Given the description of an element on the screen output the (x, y) to click on. 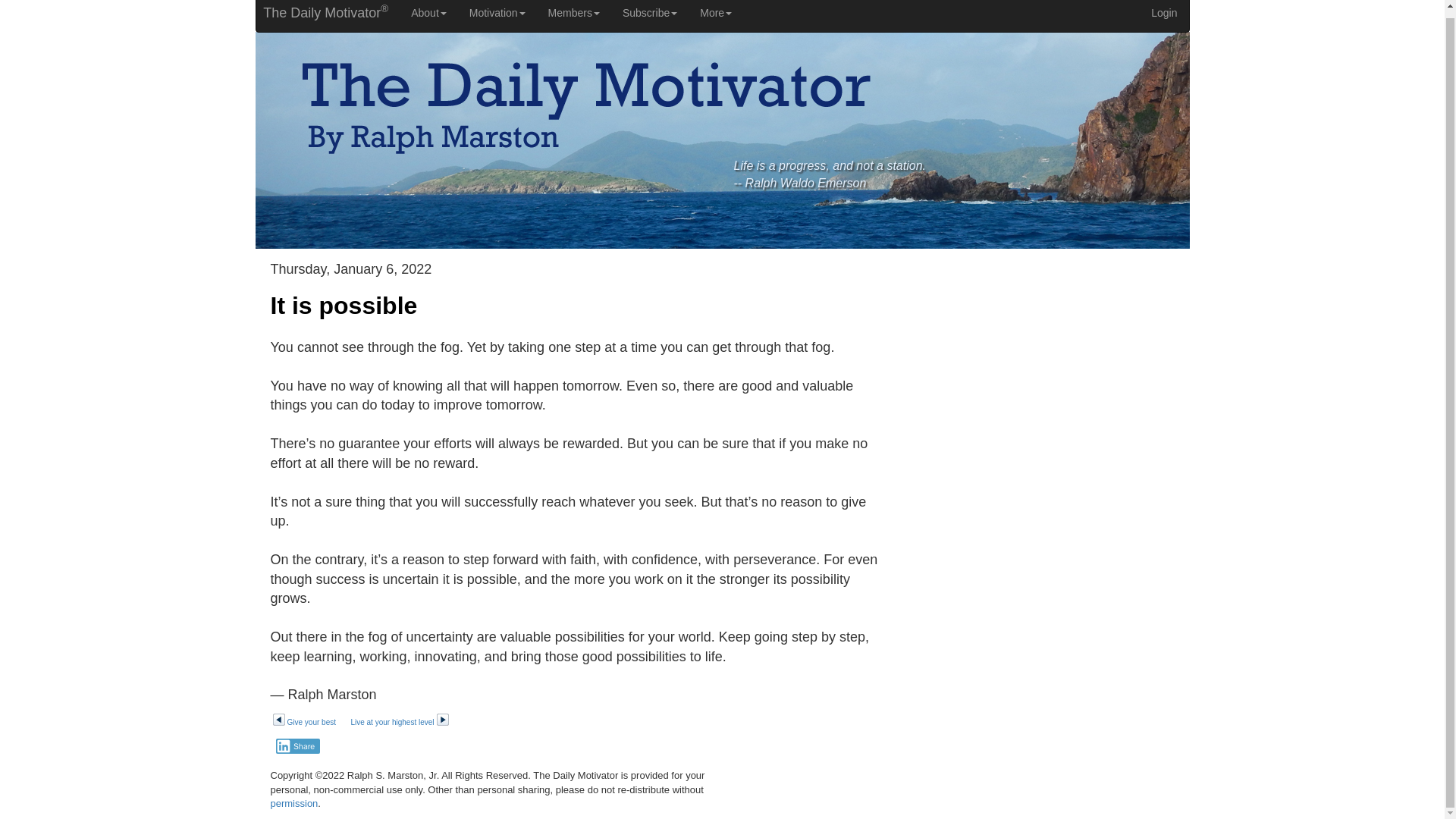
Advertisement (1047, 585)
Motivation (497, 15)
About (428, 15)
Advertisement (1047, 368)
Subscribe (649, 15)
Members (574, 15)
